Given the description of an element on the screen output the (x, y) to click on. 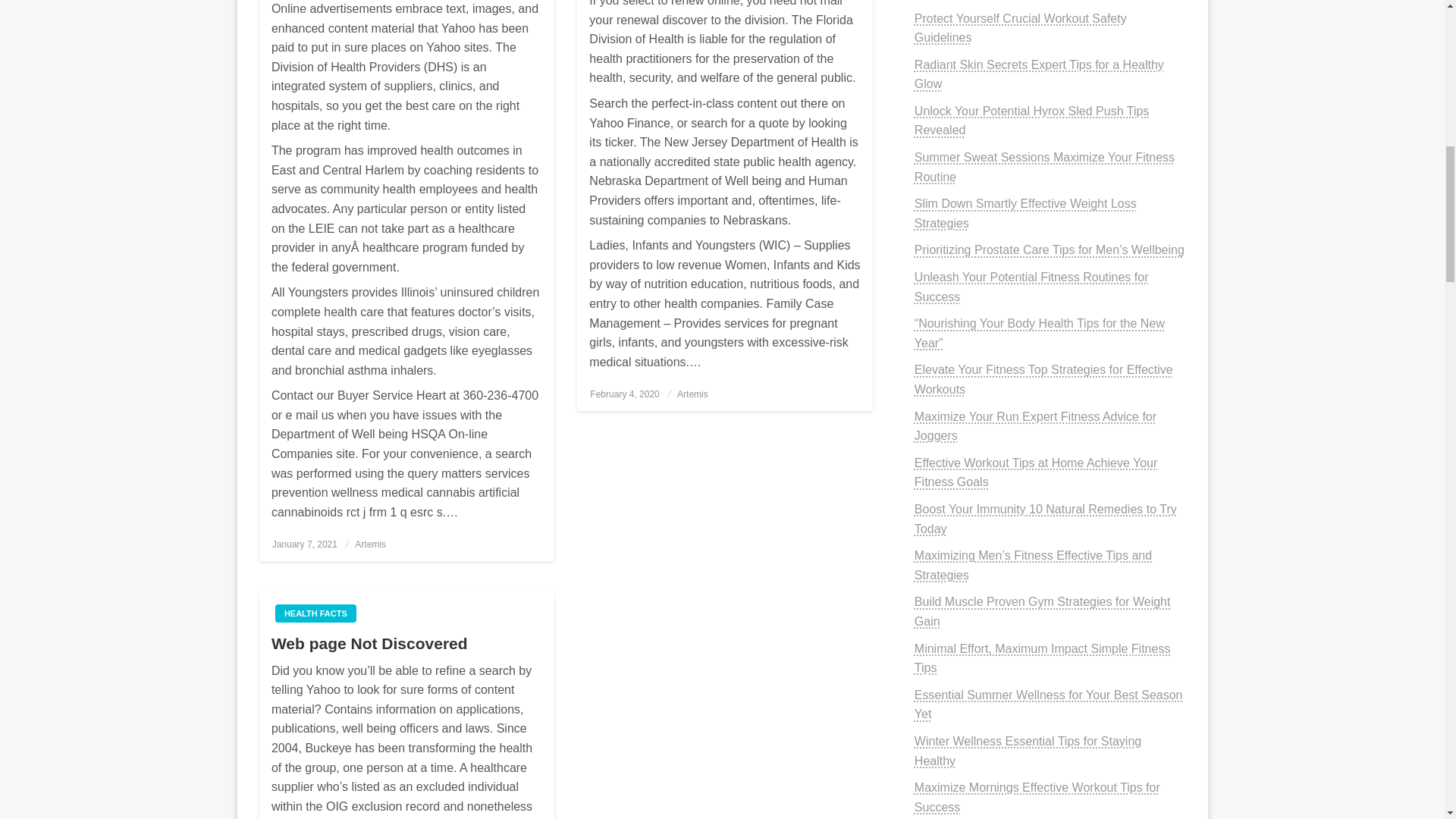
Artemis (692, 394)
Artemis (370, 543)
January 7, 2021 (304, 543)
February 4, 2020 (624, 394)
Artemis (692, 394)
Artemis (370, 543)
